Given the description of an element on the screen output the (x, y) to click on. 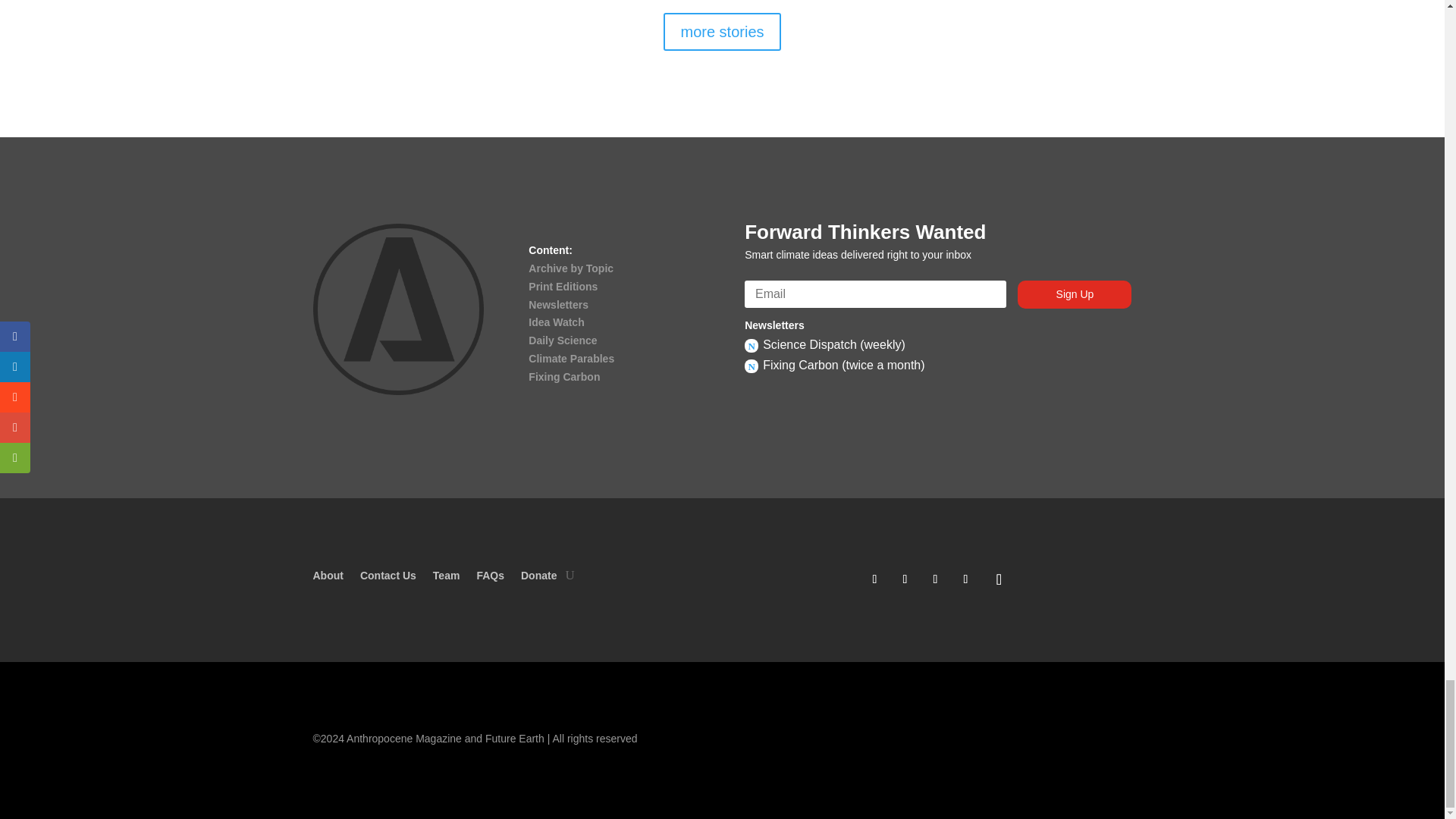
Follow on Facebook (873, 579)
